Given the description of an element on the screen output the (x, y) to click on. 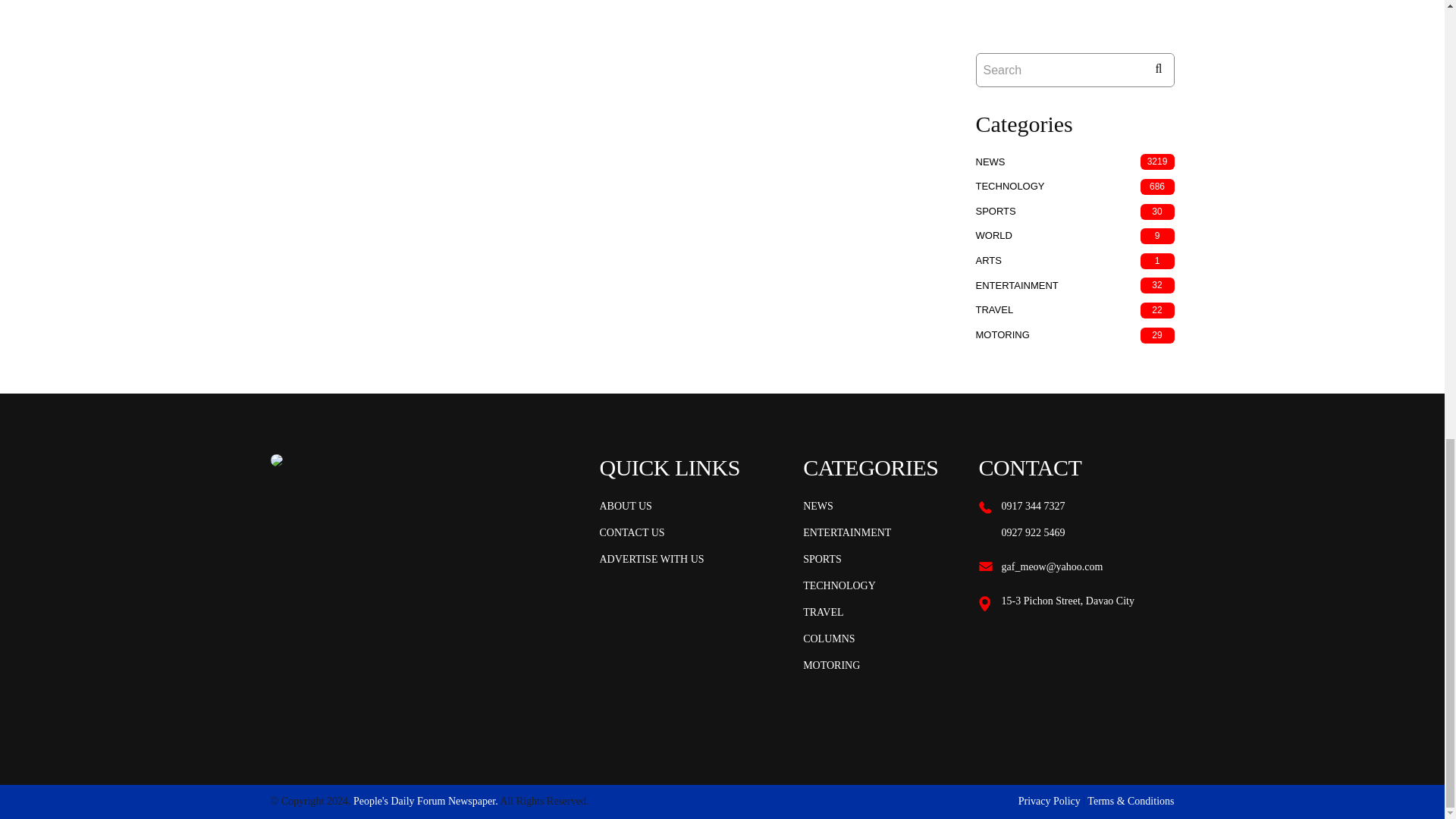
CONTACT US (630, 532)
MOTORING (1002, 334)
WORLD (993, 235)
TRAVEL (994, 309)
NEWS (817, 506)
ARTS (988, 260)
SPORTS (994, 211)
TECHNOLOGY (1009, 185)
ADVERTISE WITH US (650, 558)
ABOUT US (624, 506)
